Given the description of an element on the screen output the (x, y) to click on. 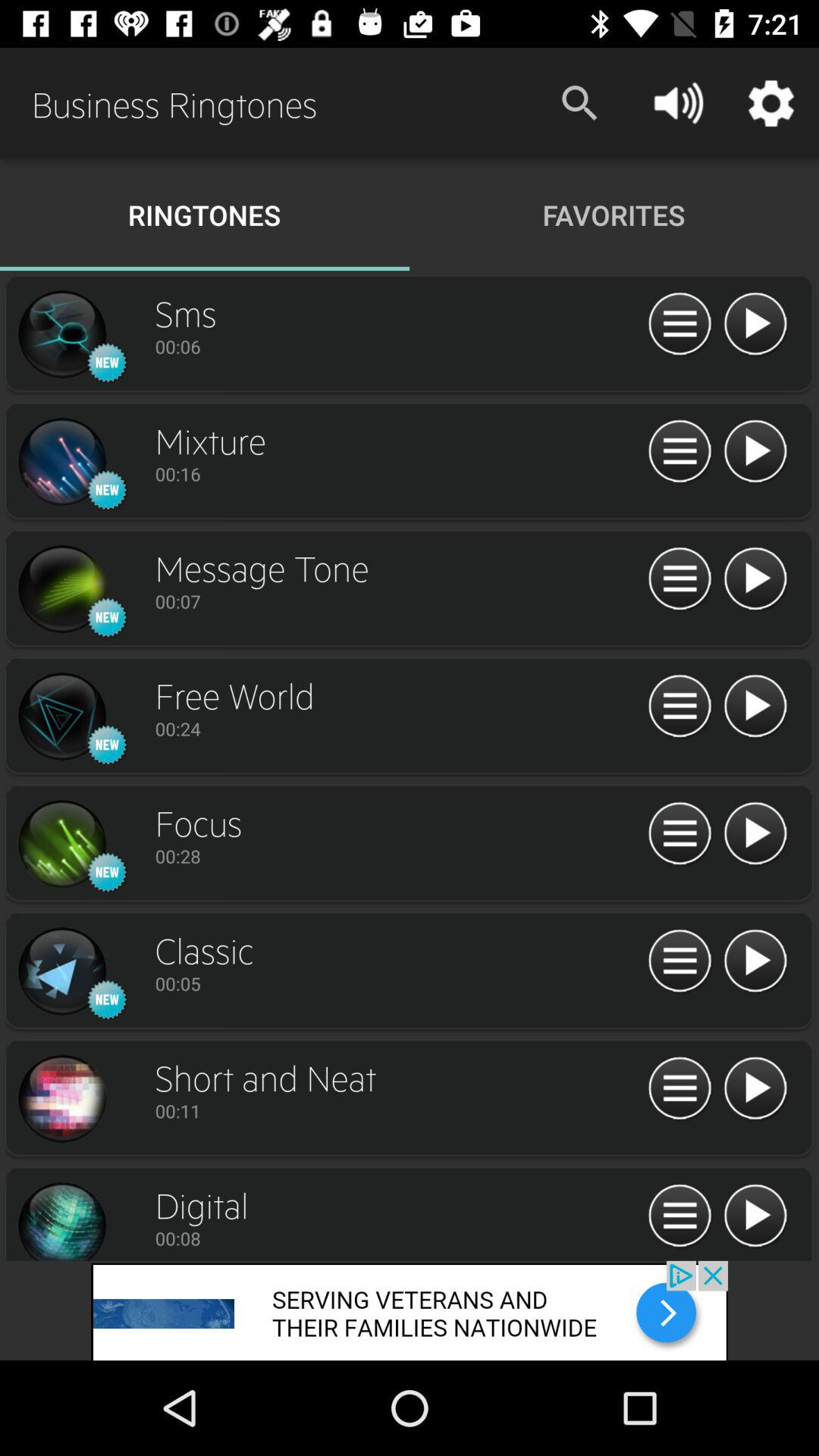
play the song (755, 961)
